Given the description of an element on the screen output the (x, y) to click on. 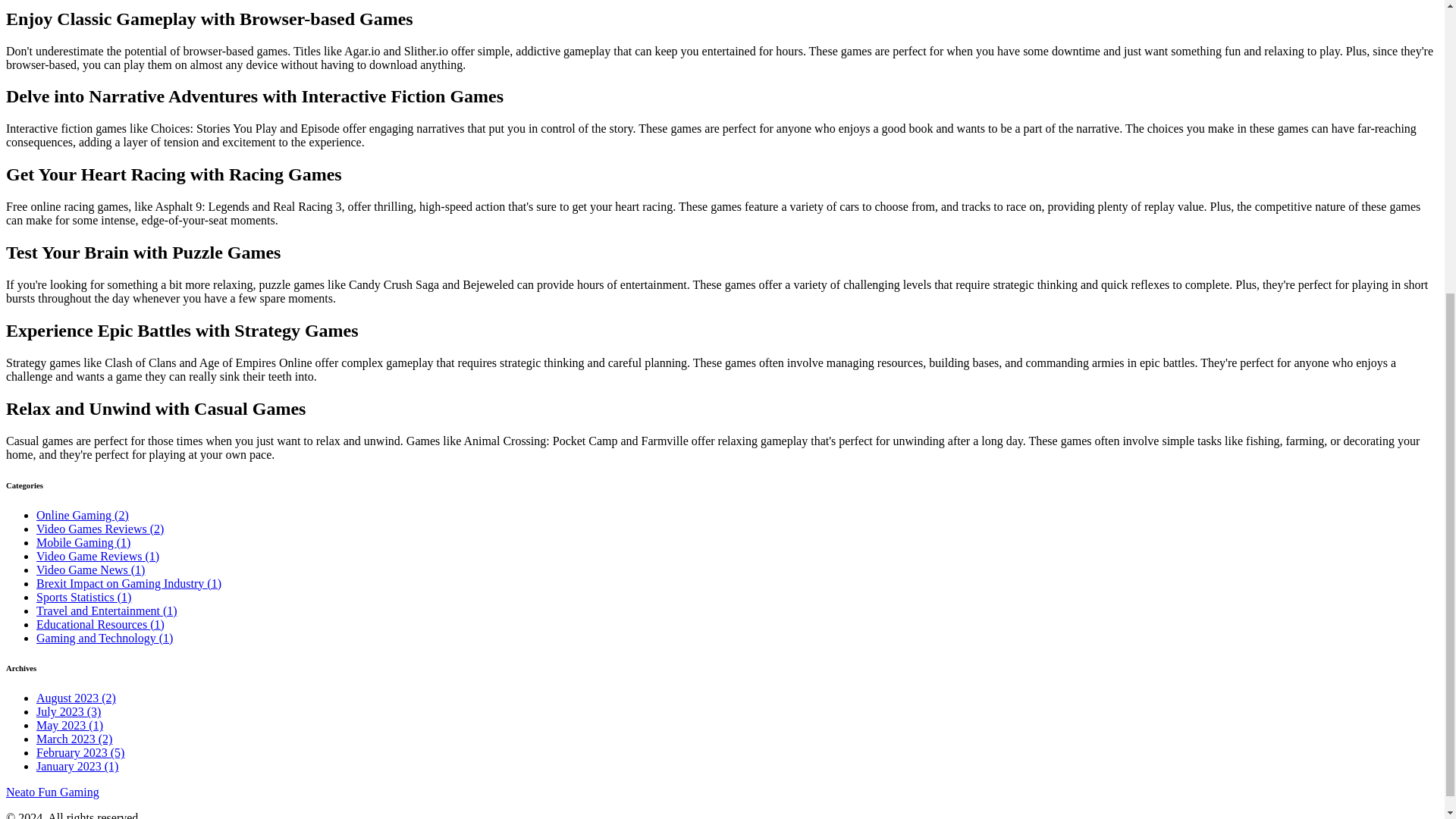
Neato Fun Gaming (52, 791)
